Given the description of an element on the screen output the (x, y) to click on. 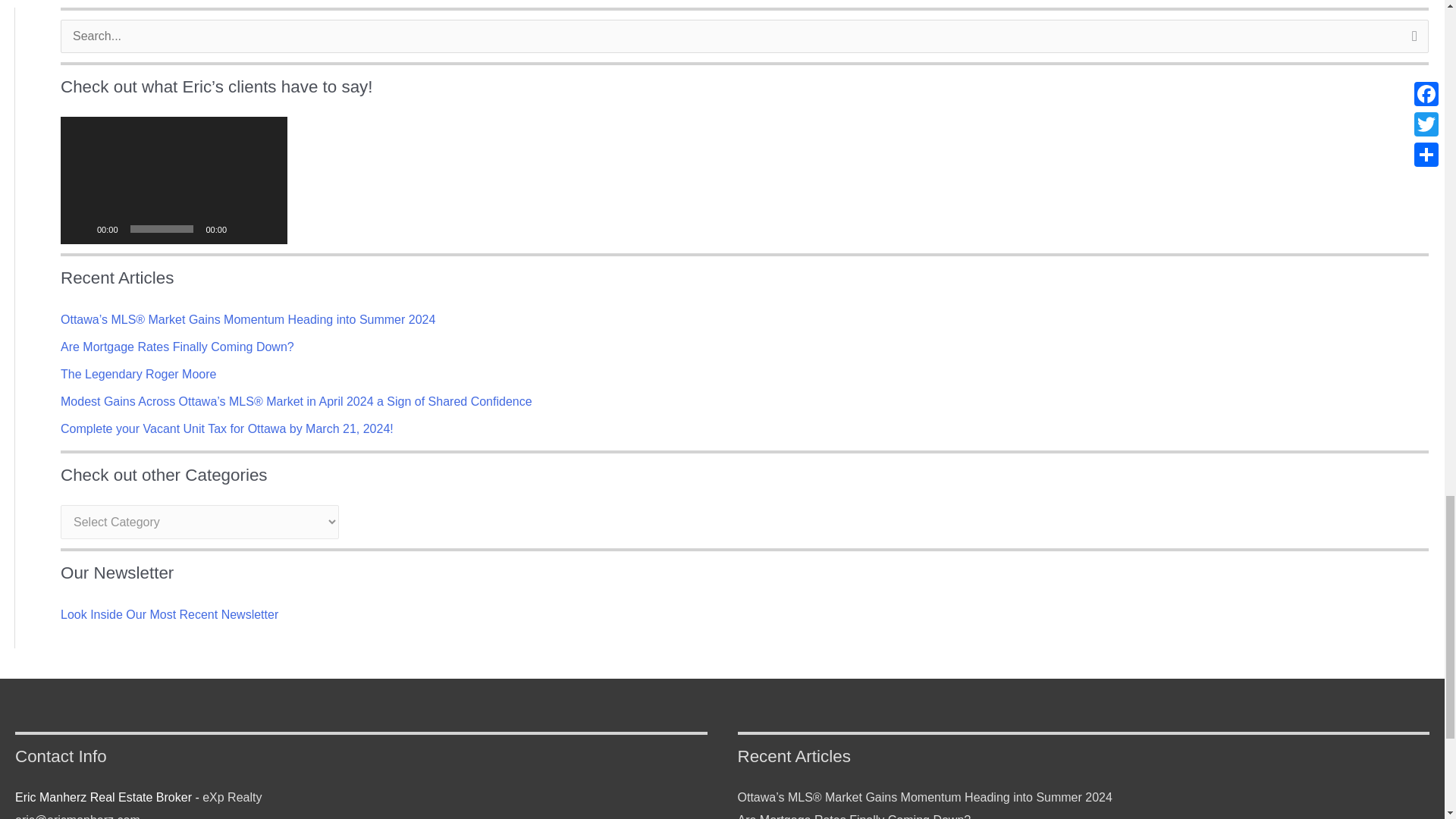
Mute (242, 228)
Play (79, 228)
View our Newsletter online (169, 614)
Fullscreen (267, 228)
